Given the description of an element on the screen output the (x, y) to click on. 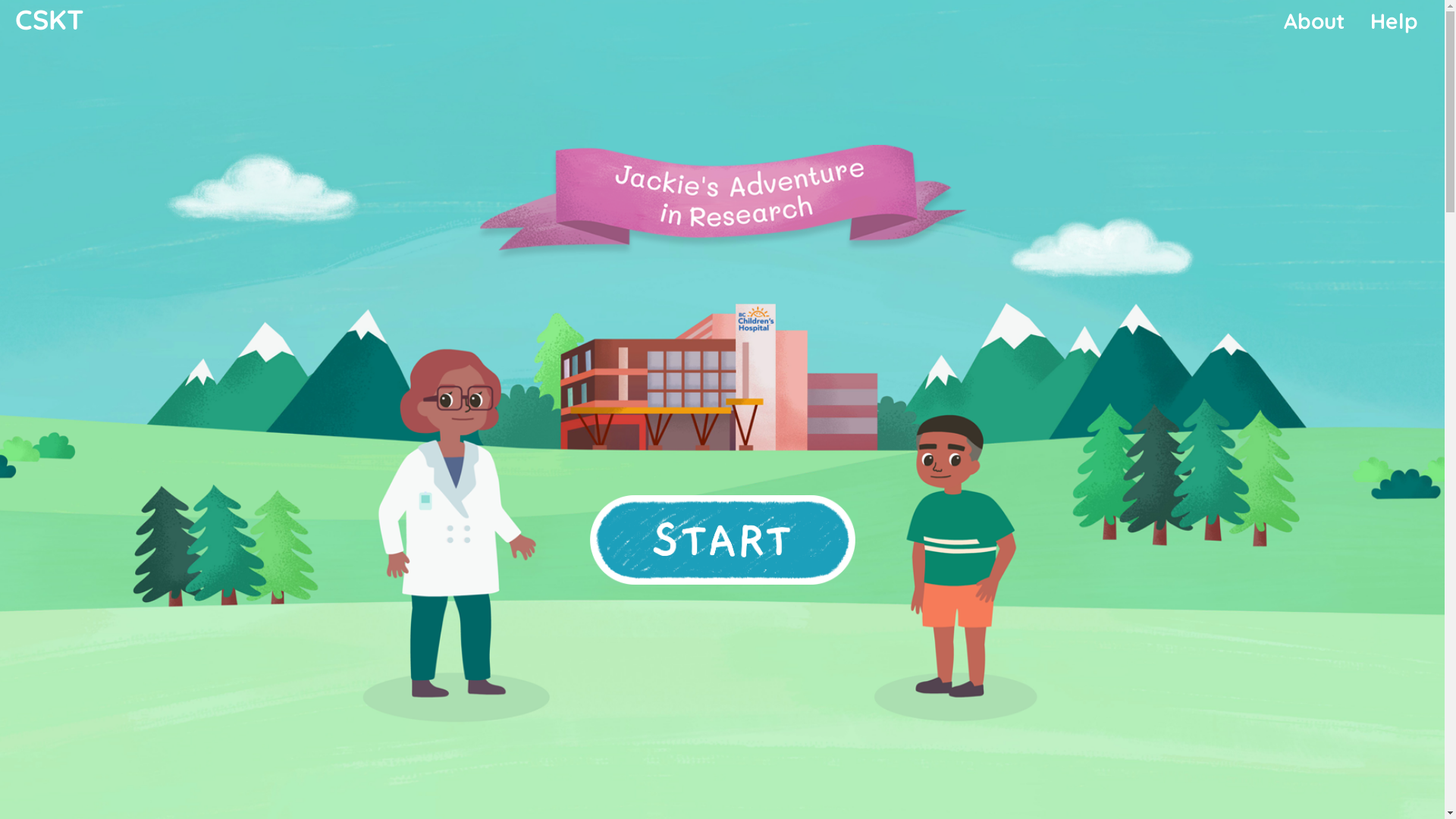
CSKT Element type: text (49, 18)
About Element type: text (1313, 20)
Help Element type: text (1394, 20)
